Given the description of an element on the screen output the (x, y) to click on. 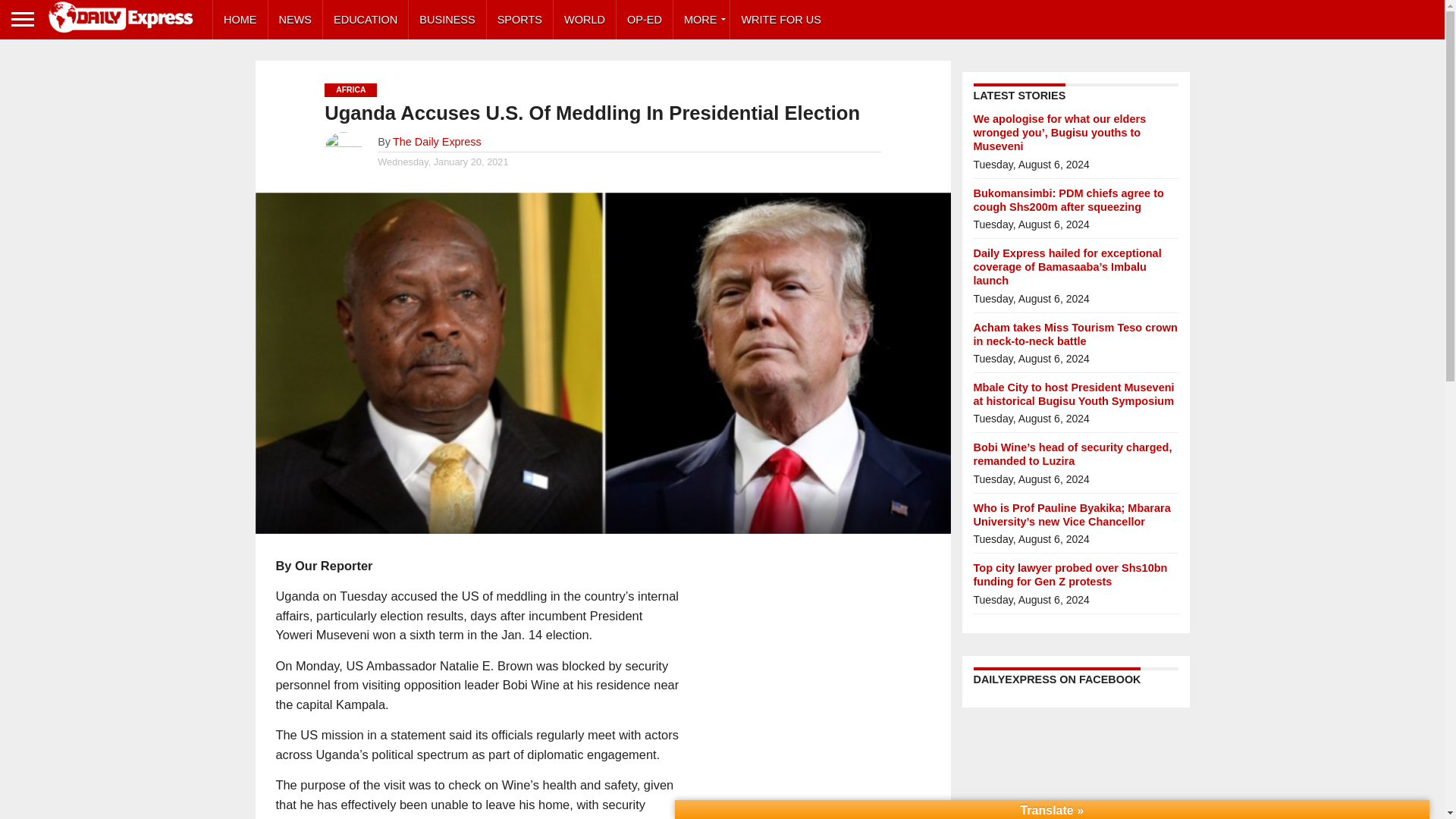
WRITE FOR US (780, 19)
The Daily Express (437, 141)
EDUCATION (365, 19)
Posts by The Daily Express (437, 141)
SPORTS (519, 19)
HOME (239, 19)
MORE (701, 19)
OP-ED (643, 19)
WORLD (584, 19)
BUSINESS (446, 19)
